Given the description of an element on the screen output the (x, y) to click on. 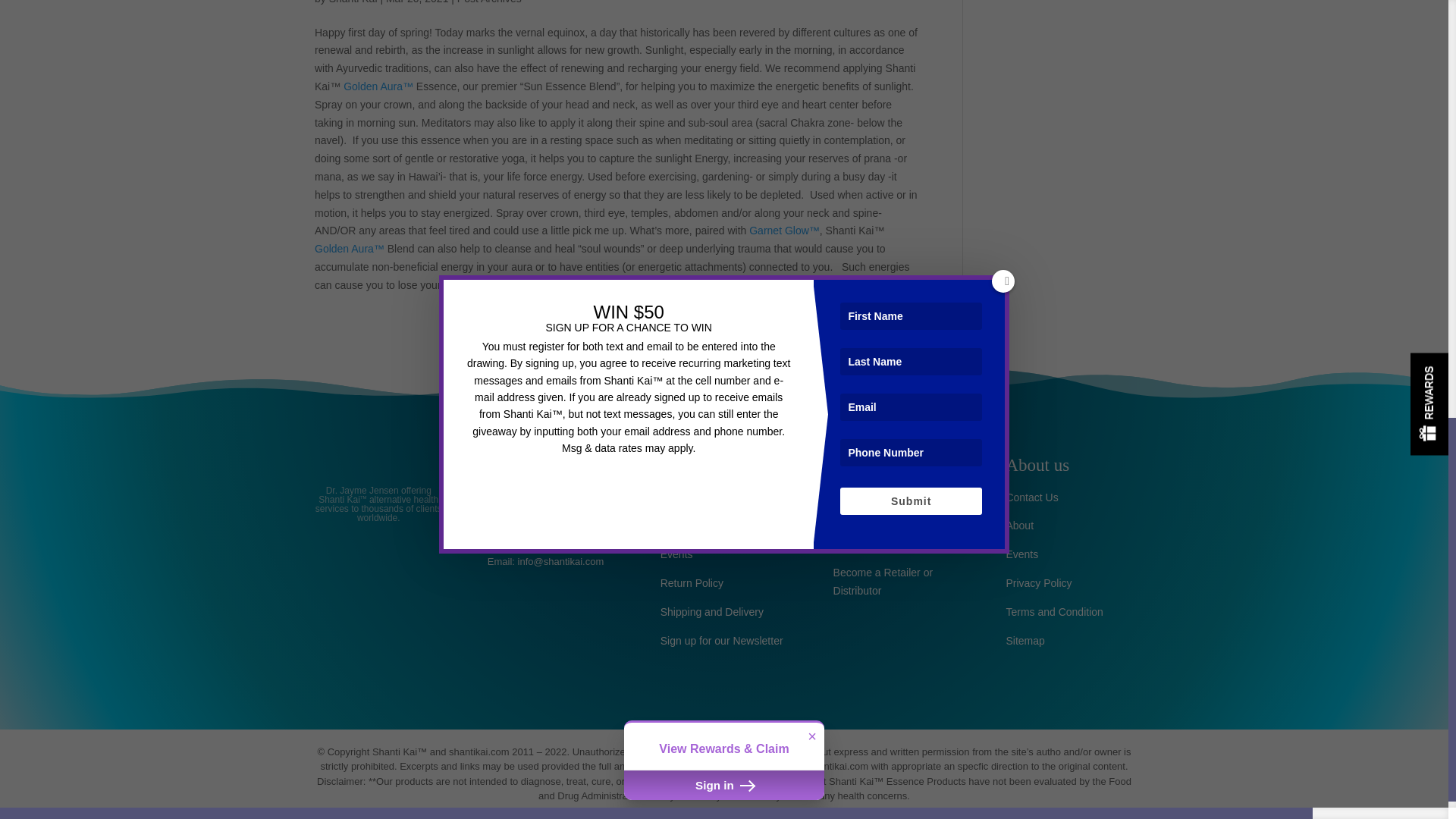
Posts by Shanti Kai (353, 2)
DMCA.com Protection Status (550, 696)
footer-white-logo (379, 458)
